Given the description of an element on the screen output the (x, y) to click on. 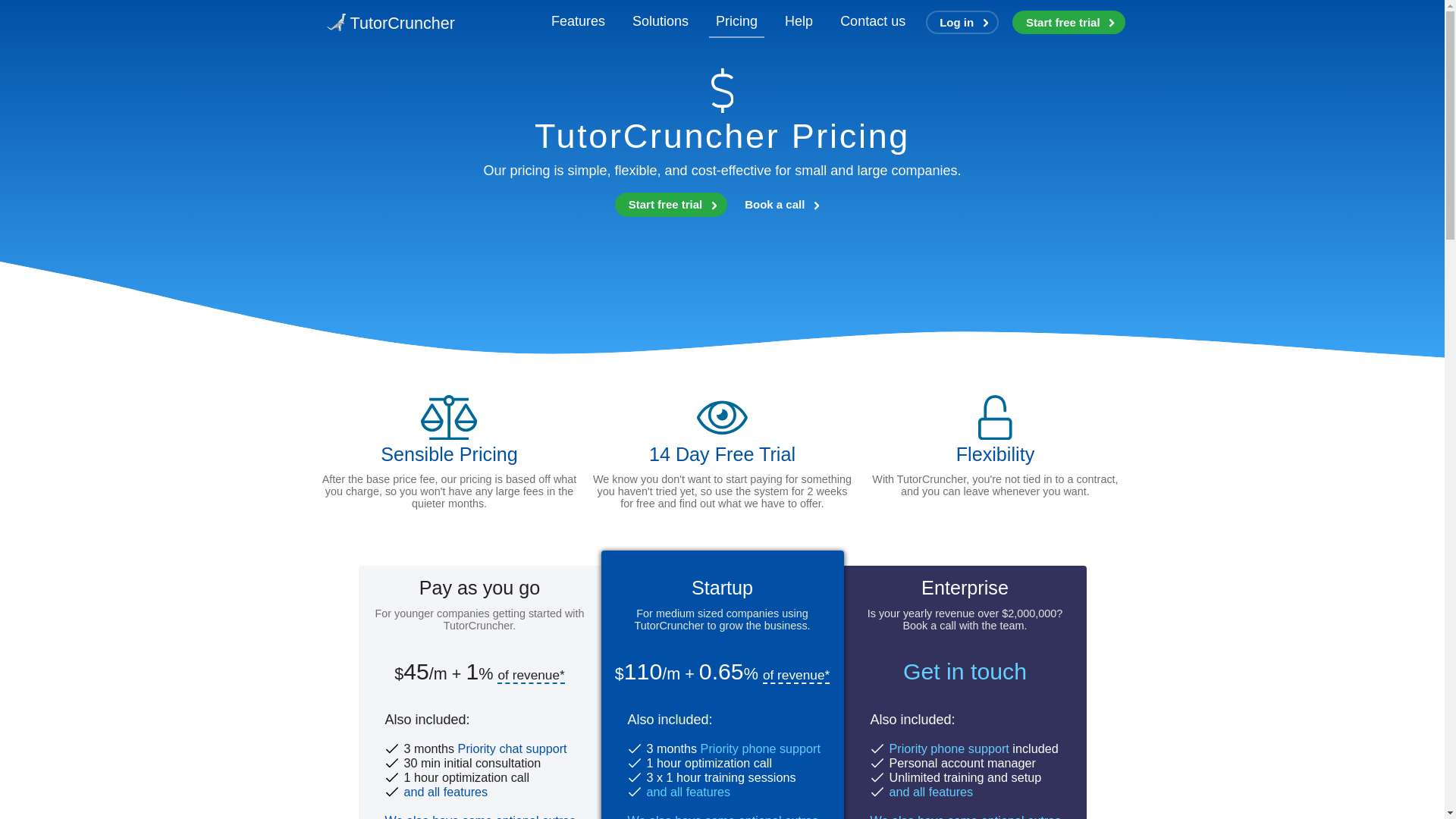
Start free trial (1067, 22)
Get in touch (964, 671)
Features (577, 21)
Pricing (736, 21)
Help (798, 21)
and all features (688, 791)
Contact us (872, 21)
Priority phone support (948, 748)
Start free trial (670, 204)
and all features (445, 791)
